Given the description of an element on the screen output the (x, y) to click on. 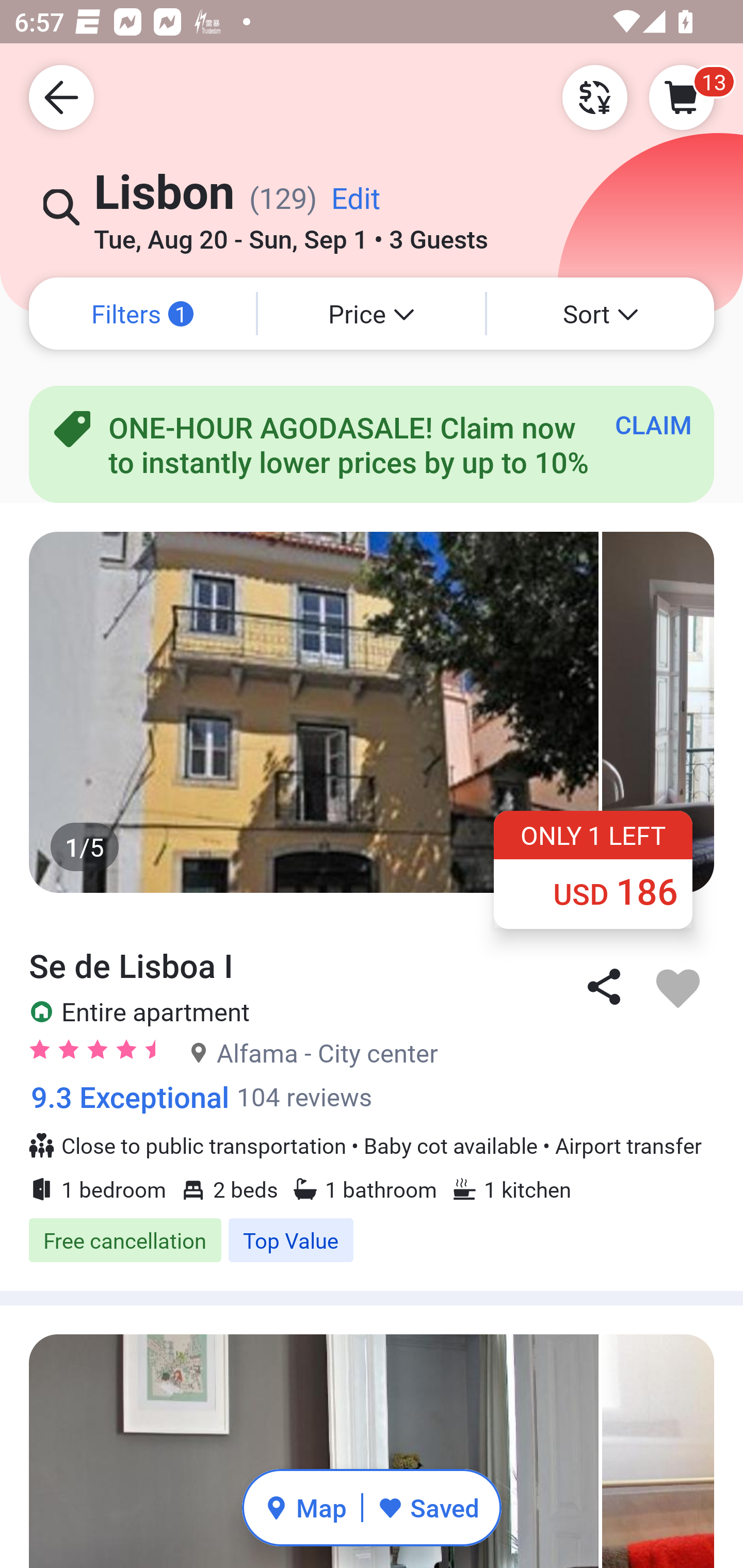
Filters 1 (141, 313)
Price (371, 313)
Sort (600, 313)
CLAIM (653, 424)
1/5 (371, 711)
ONLY 1 LEFT ‪USD 186 (593, 869)
Free cancellation Top Value (371, 1240)
Map (305, 1507)
Saved (428, 1507)
